Given the description of an element on the screen output the (x, y) to click on. 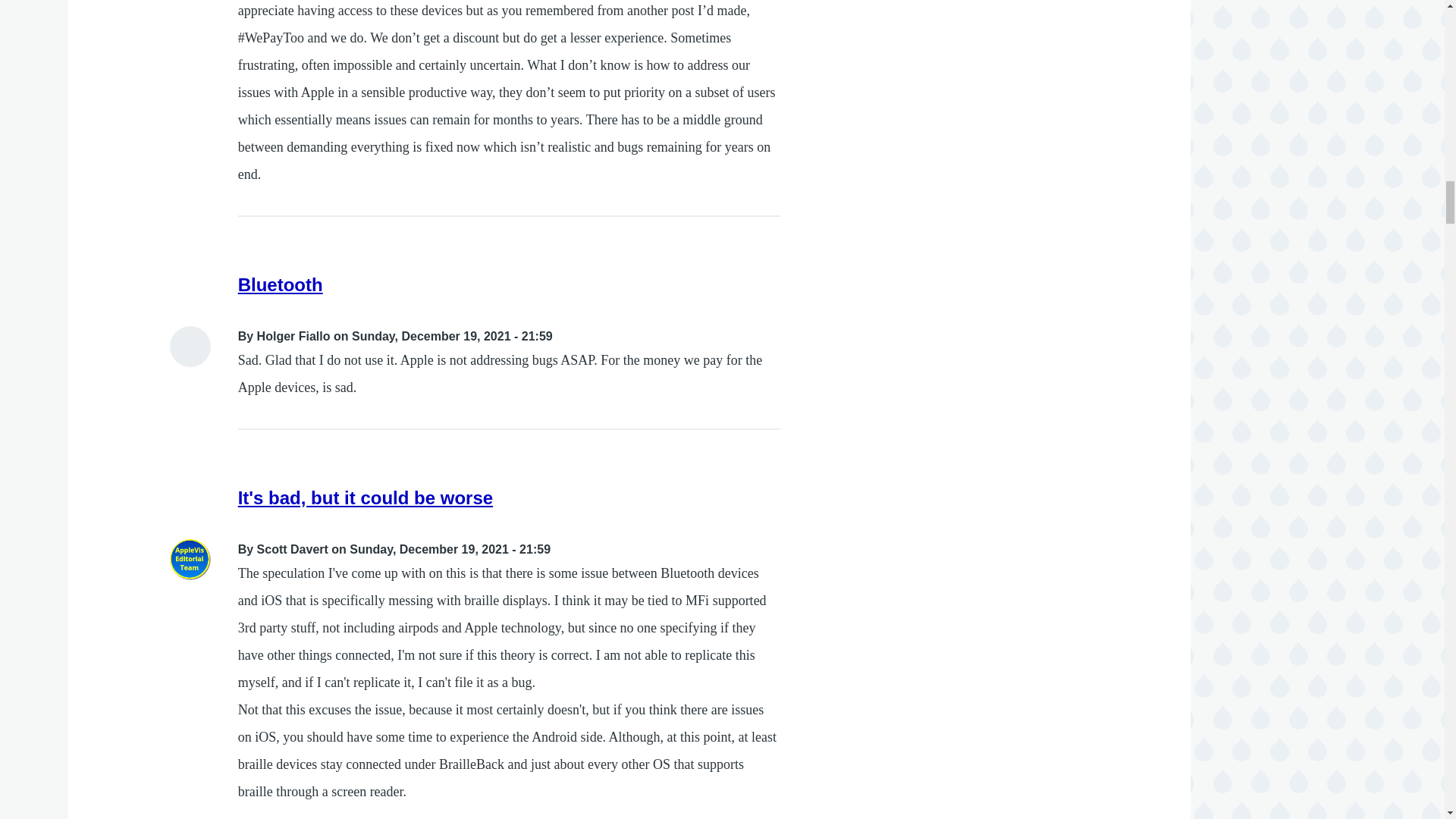
It's bad, but it could be worse (365, 497)
Bluetooth (280, 284)
